Given the description of an element on the screen output the (x, y) to click on. 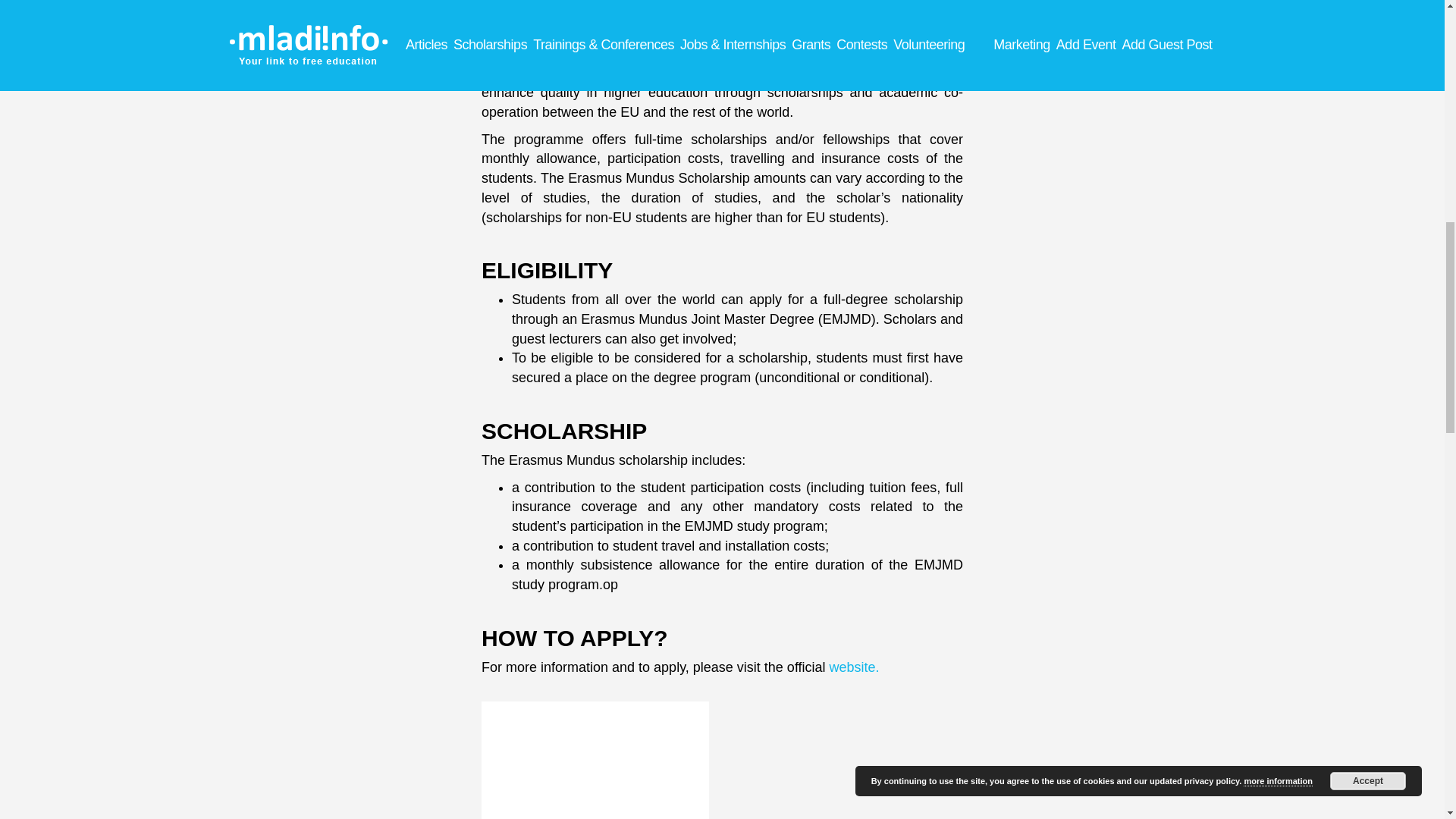
website. (854, 667)
pharmacy online (787, 73)
